Given the description of an element on the screen output the (x, y) to click on. 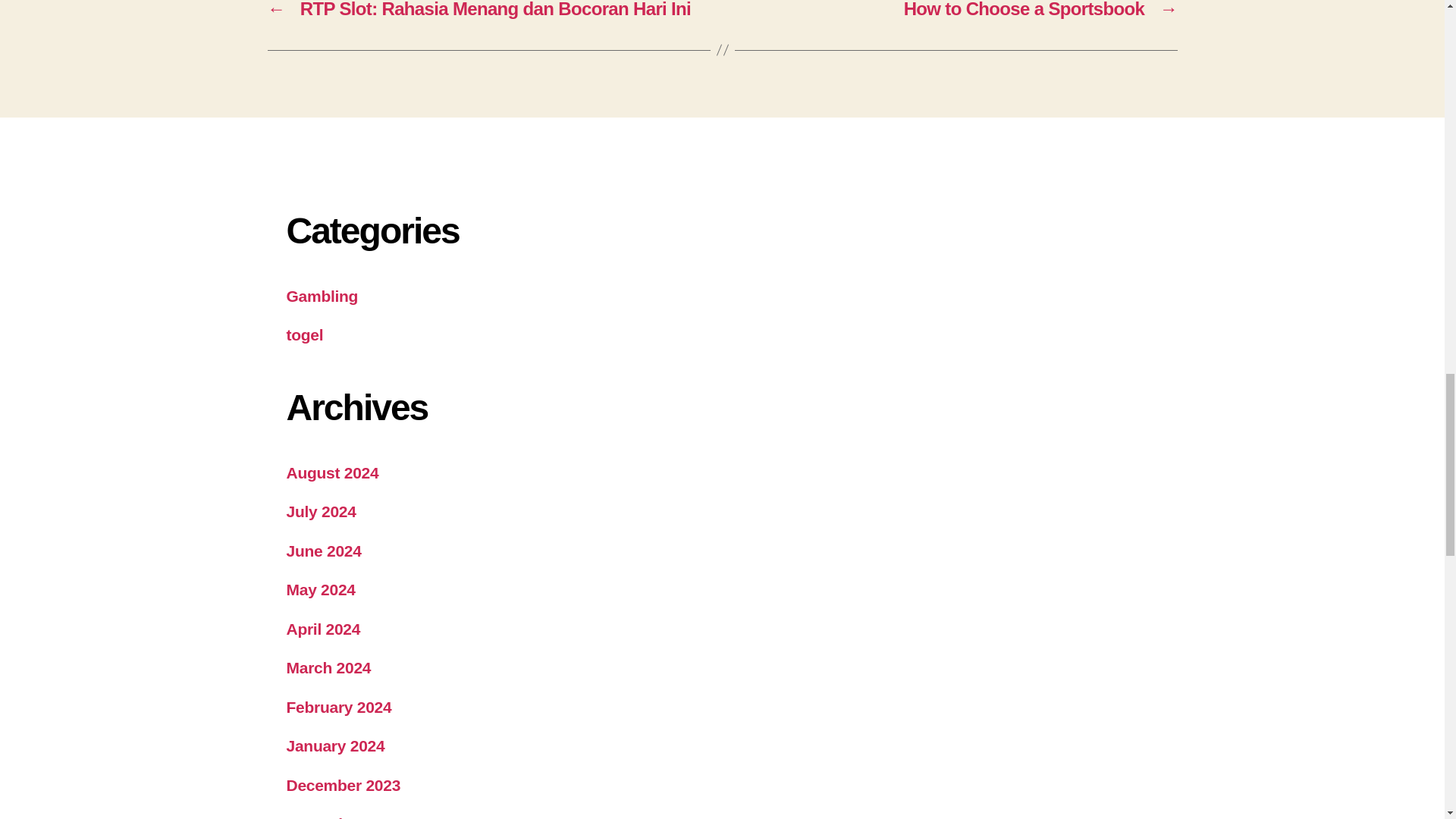
August 2024 (332, 472)
togel (304, 334)
February 2024 (338, 706)
November 2023 (343, 816)
Gambling (322, 295)
July 2024 (321, 511)
April 2024 (323, 628)
March 2024 (328, 667)
December 2023 (343, 784)
May 2024 (320, 589)
